Given the description of an element on the screen output the (x, y) to click on. 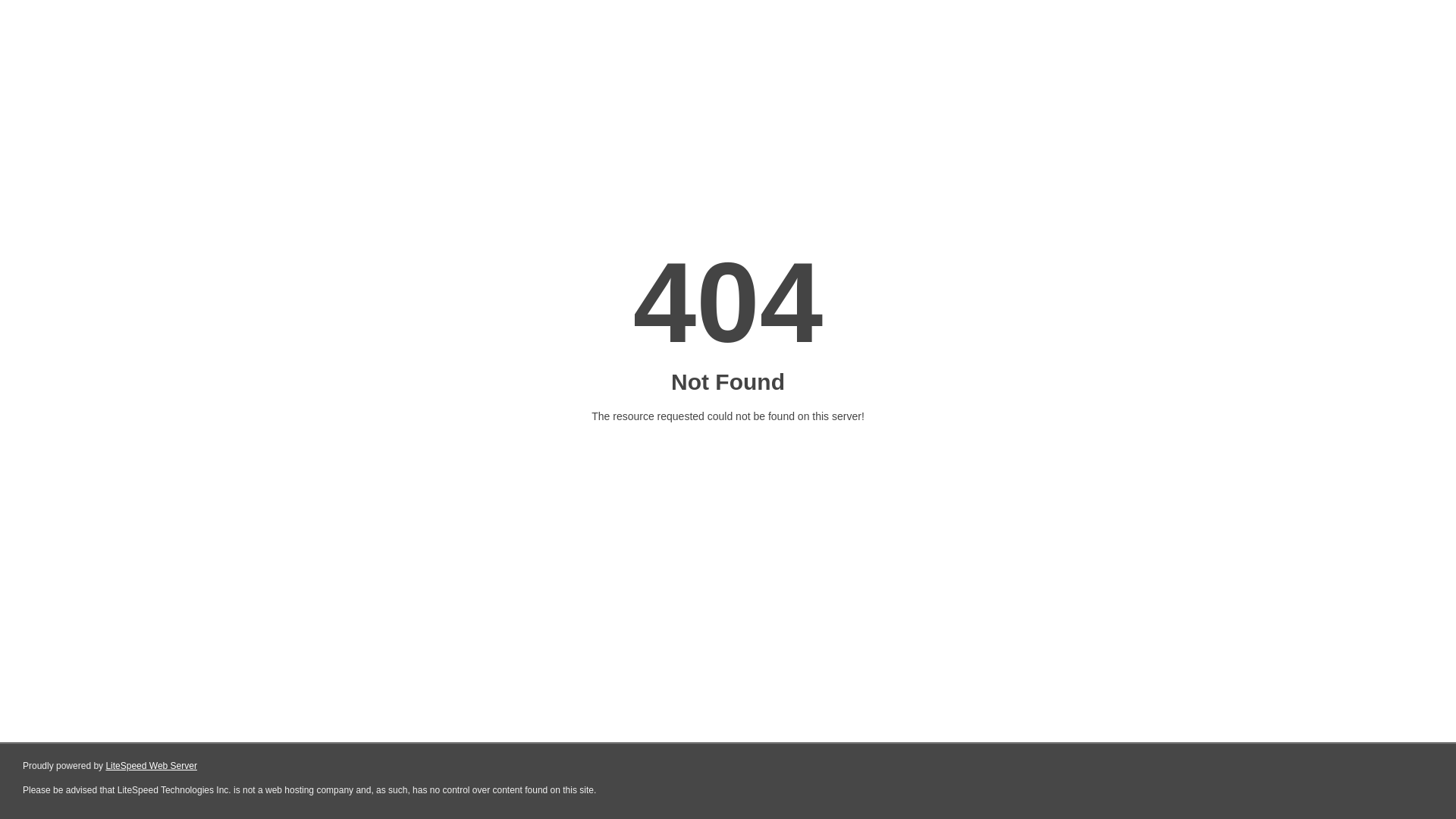
LiteSpeed Web Server Element type: text (151, 765)
